Given the description of an element on the screen output the (x, y) to click on. 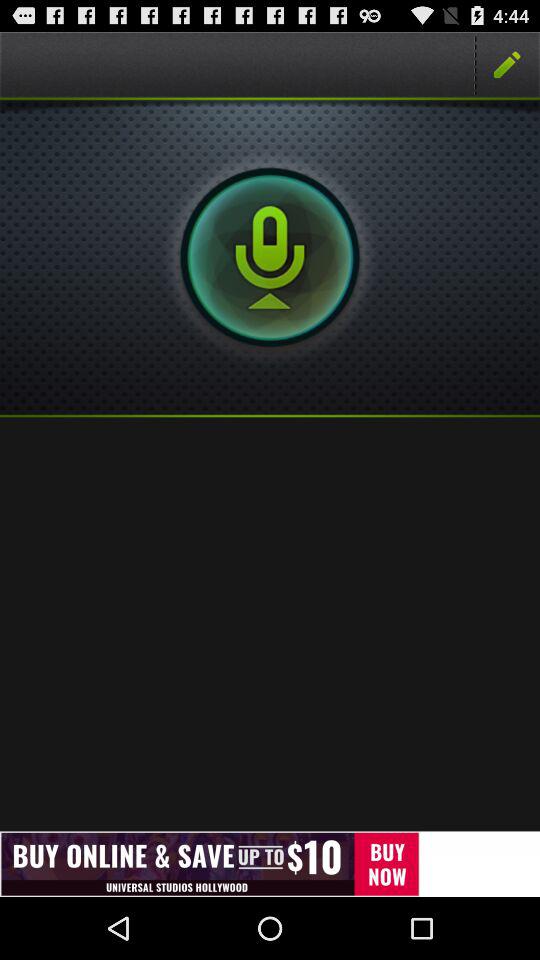
launch item at the center (270, 623)
